Given the description of an element on the screen output the (x, y) to click on. 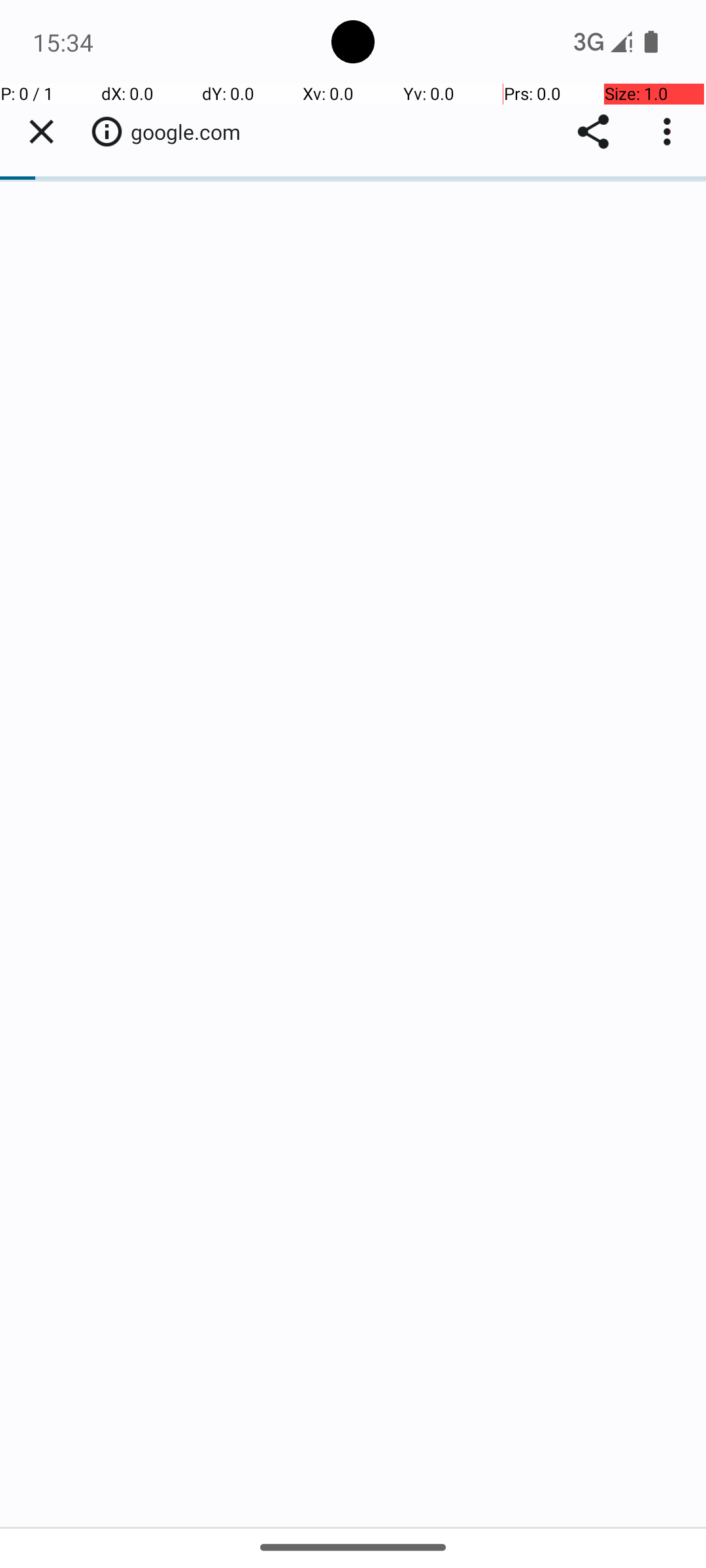
Web View Element type: android.widget.FrameLayout (353, 804)
Close tab Element type: android.widget.ImageButton (41, 131)
Your connection to this site is not secure Element type: android.widget.ImageButton (106, 131)
Share Element type: android.widget.ImageButton (593, 131)
More options Element type: android.widget.ImageButton (670, 131)
google.com Element type: android.widget.TextView (192, 131)
